Given the description of an element on the screen output the (x, y) to click on. 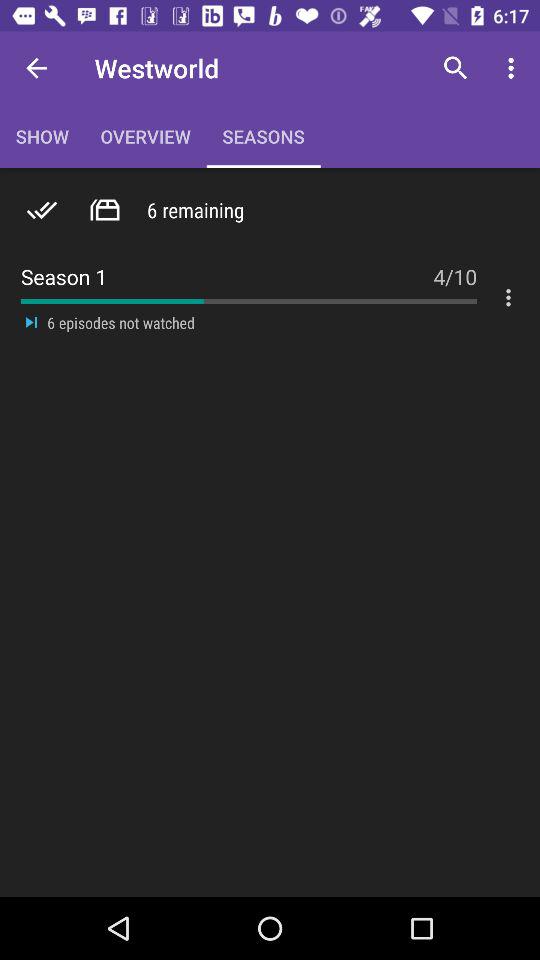
turn off the item below show (104, 209)
